Given the description of an element on the screen output the (x, y) to click on. 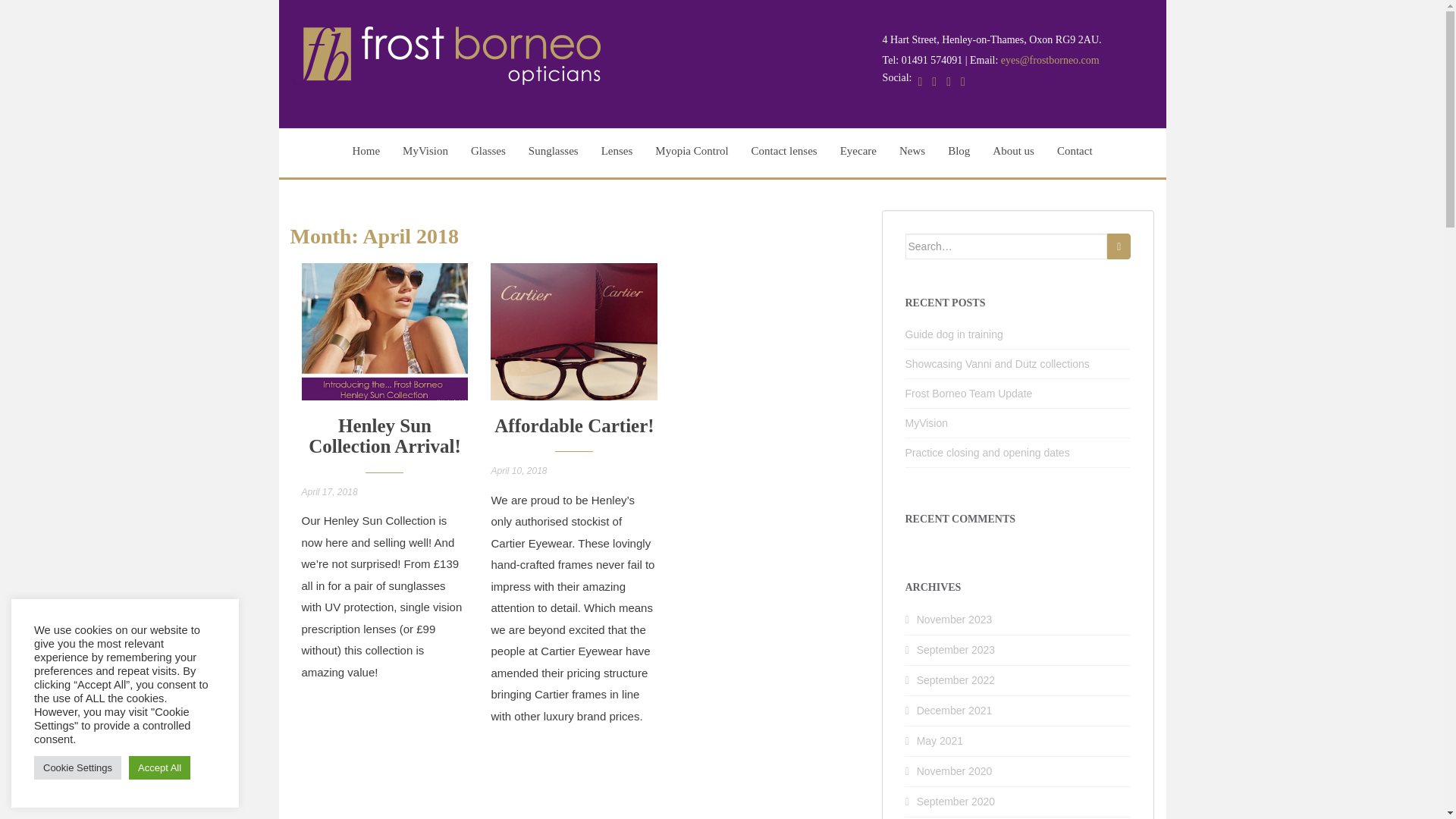
Search (1118, 246)
Blog (958, 152)
Guide dog in training (954, 334)
Myopia Control (691, 152)
MyVision (927, 422)
Frost Borneo Team Update (968, 393)
Search for: (1006, 246)
Contact (1074, 152)
September 2020 (956, 801)
News (912, 152)
September 2023 (956, 649)
Contact lenses (783, 152)
About us (1013, 152)
Practice closing and opening dates (987, 452)
September 2022 (956, 680)
